Given the description of an element on the screen output the (x, y) to click on. 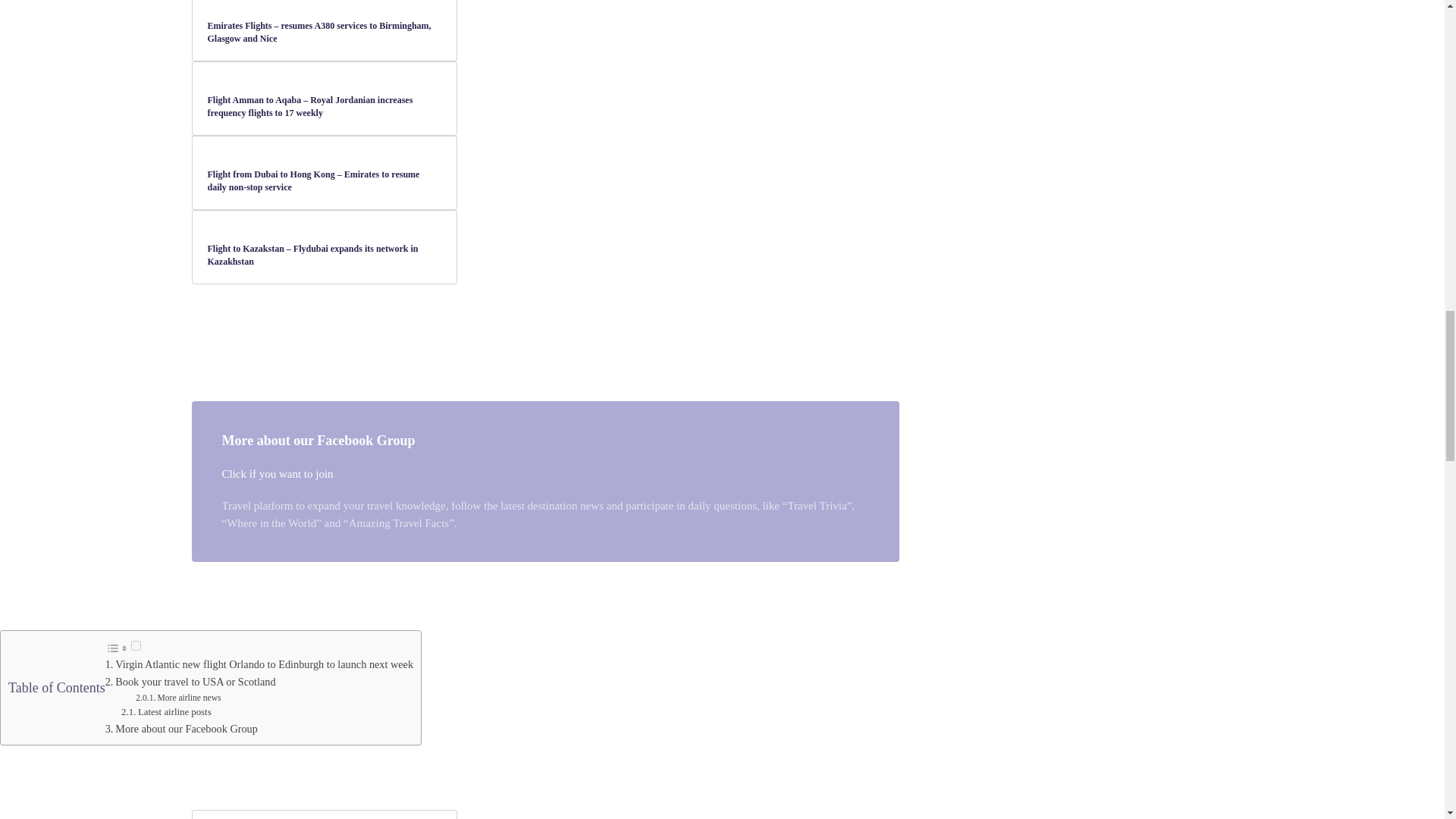
on (136, 645)
Book your travel to USA or Scotland (195, 681)
More airline news (189, 696)
More about our Facebook Group (186, 728)
Latest airline posts (174, 711)
